Given the description of an element on the screen output the (x, y) to click on. 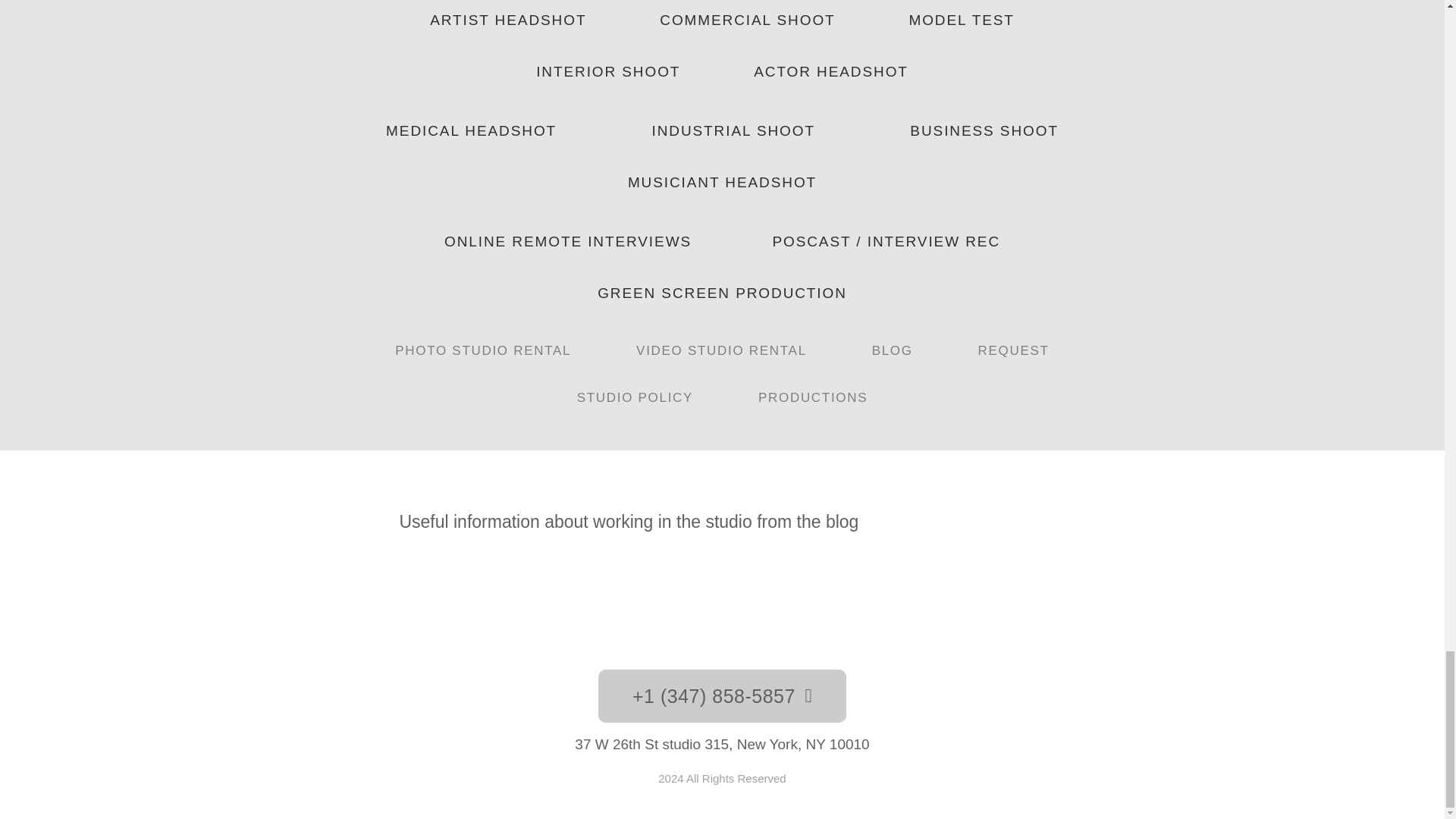
MEDICAL HEADSHOT (470, 131)
INDUSTRIAL SHOOT (733, 131)
MODEL TEST (961, 21)
COMMERCIAL SHOOT (747, 21)
ARTIST HEADSHOT (508, 21)
INTERIOR SHOOT (608, 72)
MUSICIANT HEADSHOT (722, 182)
ACTOR HEADSHOT (831, 72)
ONLINE REMOTE INTERVIEWS (568, 241)
BUSINESS SHOOT (983, 131)
